Given the description of an element on the screen output the (x, y) to click on. 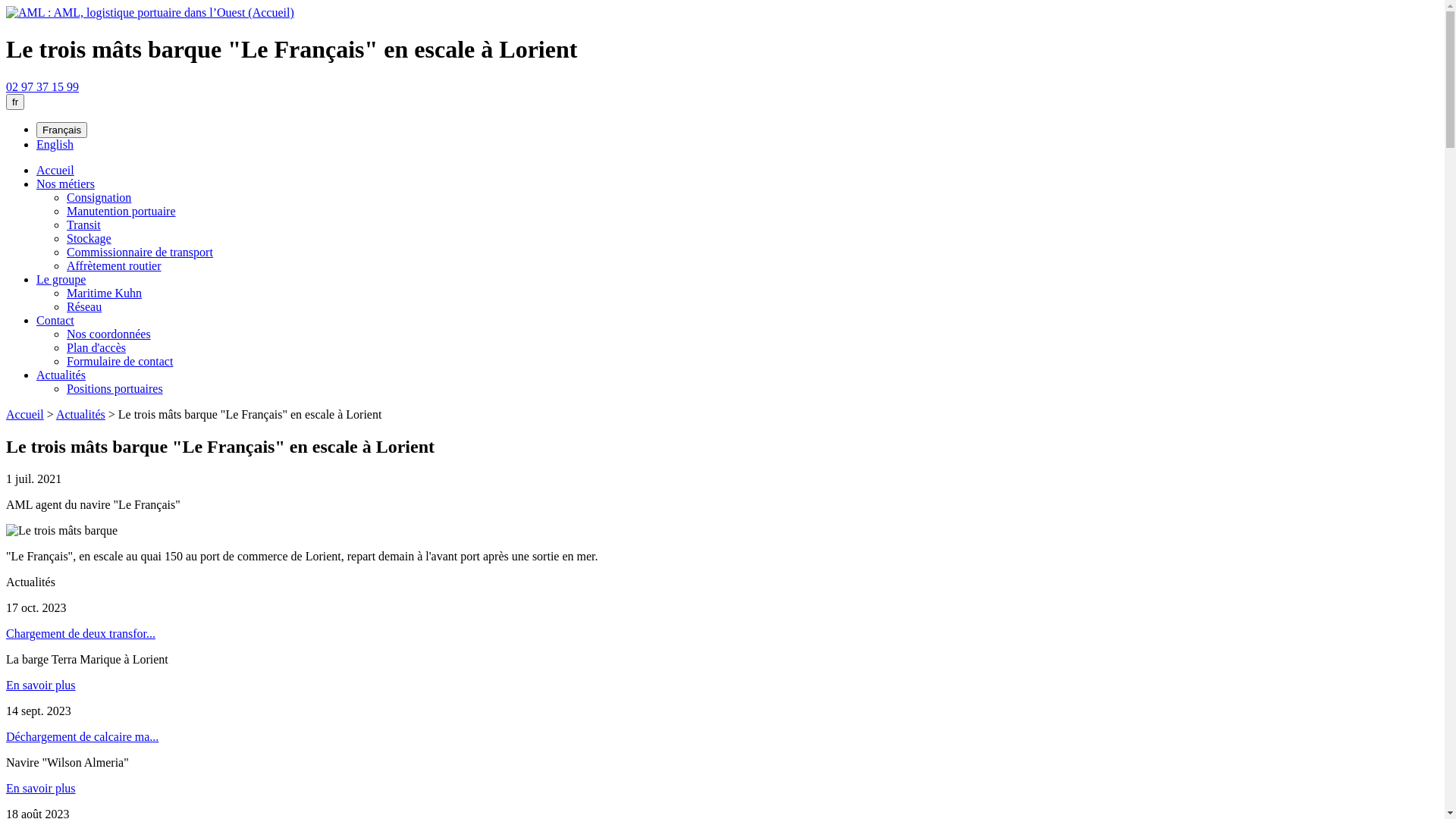
Maritime Kuhn Element type: text (103, 292)
En savoir plus Element type: text (40, 684)
Stockage Element type: text (88, 238)
Transit Element type: text (83, 224)
En savoir plus Element type: text (40, 787)
Accueil Element type: text (55, 169)
Contact Element type: text (55, 319)
Manutention portuaire Element type: text (120, 210)
English Element type: text (54, 144)
Accueil Element type: text (24, 413)
Le groupe Element type: text (60, 279)
Formulaire de contact Element type: text (119, 360)
Commissionnaire de transport Element type: text (139, 251)
Positions portuaires Element type: text (114, 388)
02 97 37 15 99 Element type: text (42, 86)
Chargement de deux transfor... Element type: text (80, 633)
fr Element type: text (15, 101)
Consignation Element type: text (98, 197)
